Given the description of an element on the screen output the (x, y) to click on. 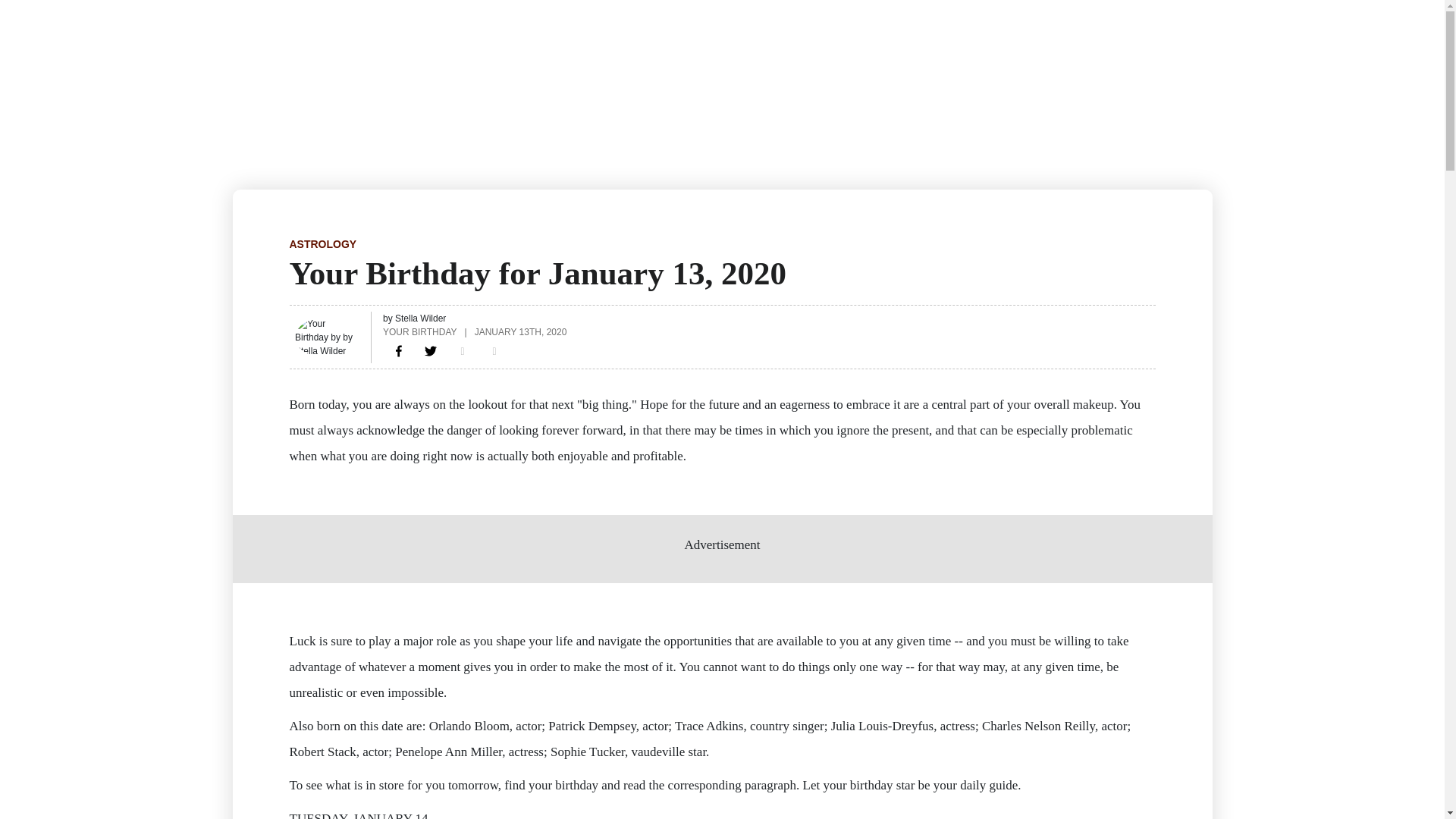
ASTROLOGY (322, 244)
Your Birthday for January 13, 2020 (398, 350)
YOUR BIRTHDAY (419, 331)
